Given the description of an element on the screen output the (x, y) to click on. 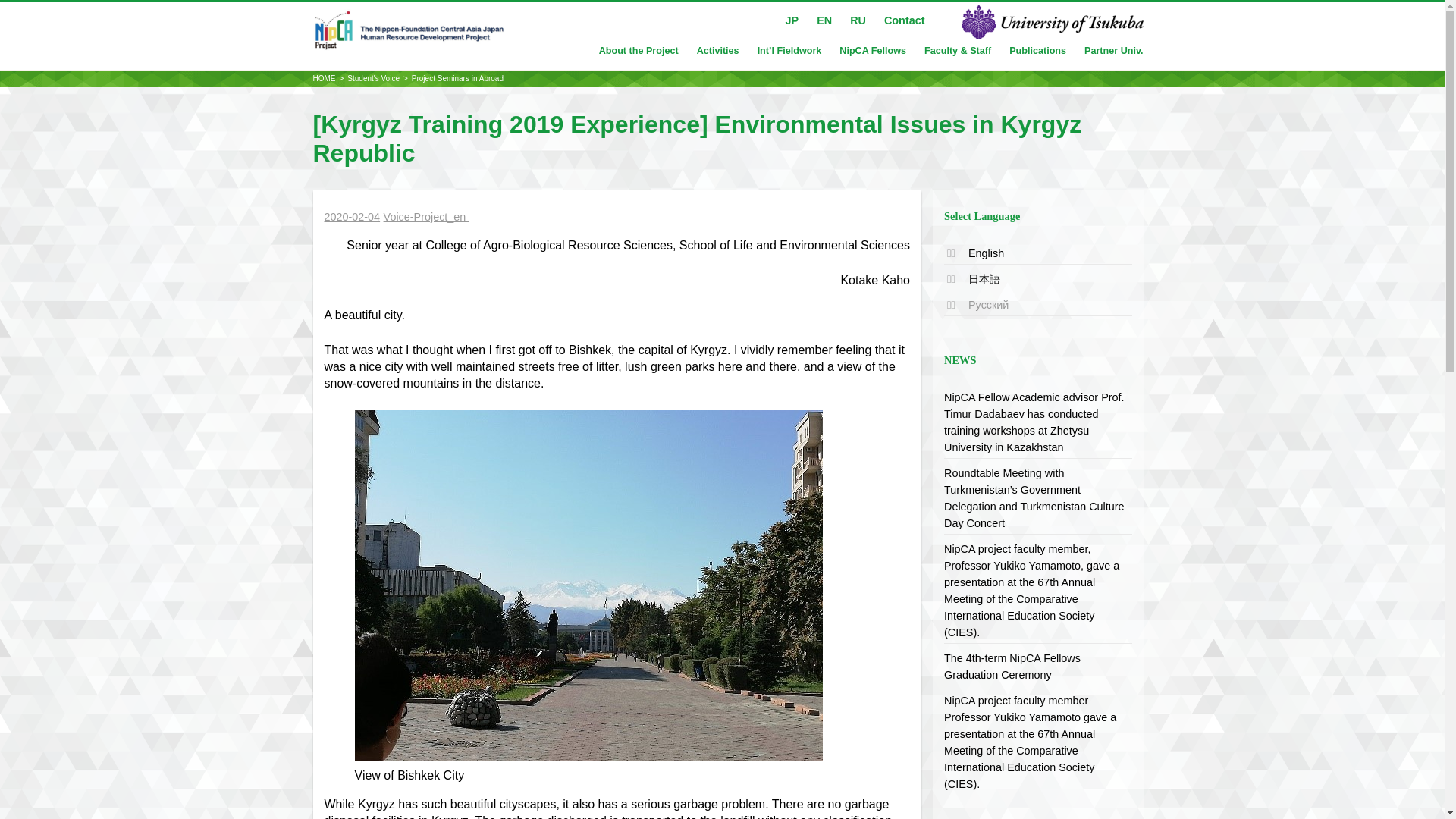
English (986, 253)
Japanese (984, 278)
Activities (718, 51)
2020-02-04 (352, 216)
Publications (1037, 51)
Project Seminars in Abroad (457, 78)
About the Project (638, 51)
HOME (323, 78)
The 4th-term NipCA Fellows Graduation Ceremony (1011, 665)
Student's Voice (372, 78)
Contact (903, 20)
NipCA Fellows (872, 51)
Partner Univ. (1113, 51)
